Given the description of an element on the screen output the (x, y) to click on. 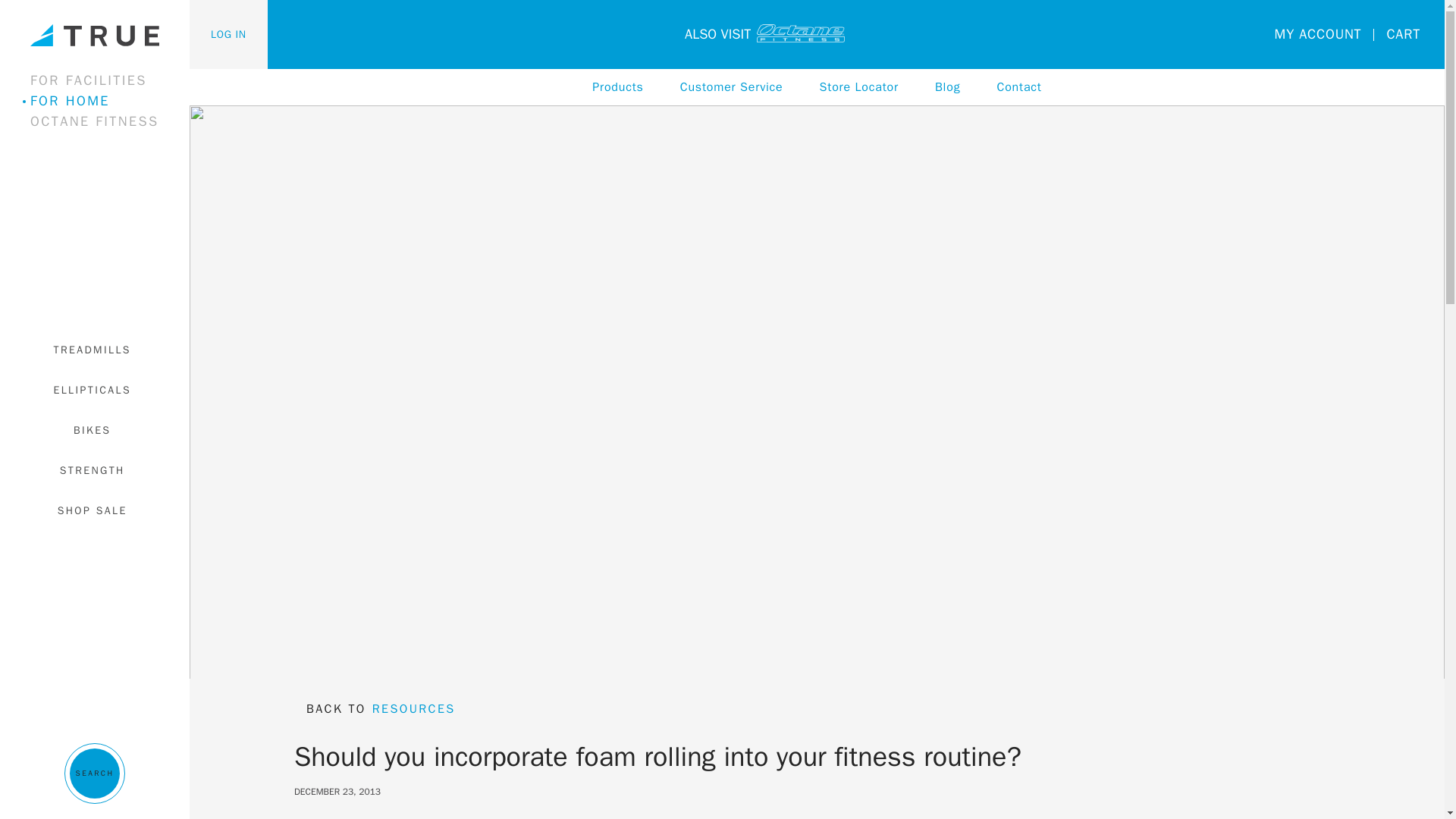
ELLIPTICALS  (94, 390)
TRUE Fitness (94, 34)
Treadmills (94, 349)
Ellipticals (94, 390)
FOR HOME (103, 100)
FOR FACILITIES (103, 80)
TREADMILLS  (94, 349)
Strength (94, 470)
STRENGTH  (94, 470)
SHOP SALE (94, 509)
